Given the description of an element on the screen output the (x, y) to click on. 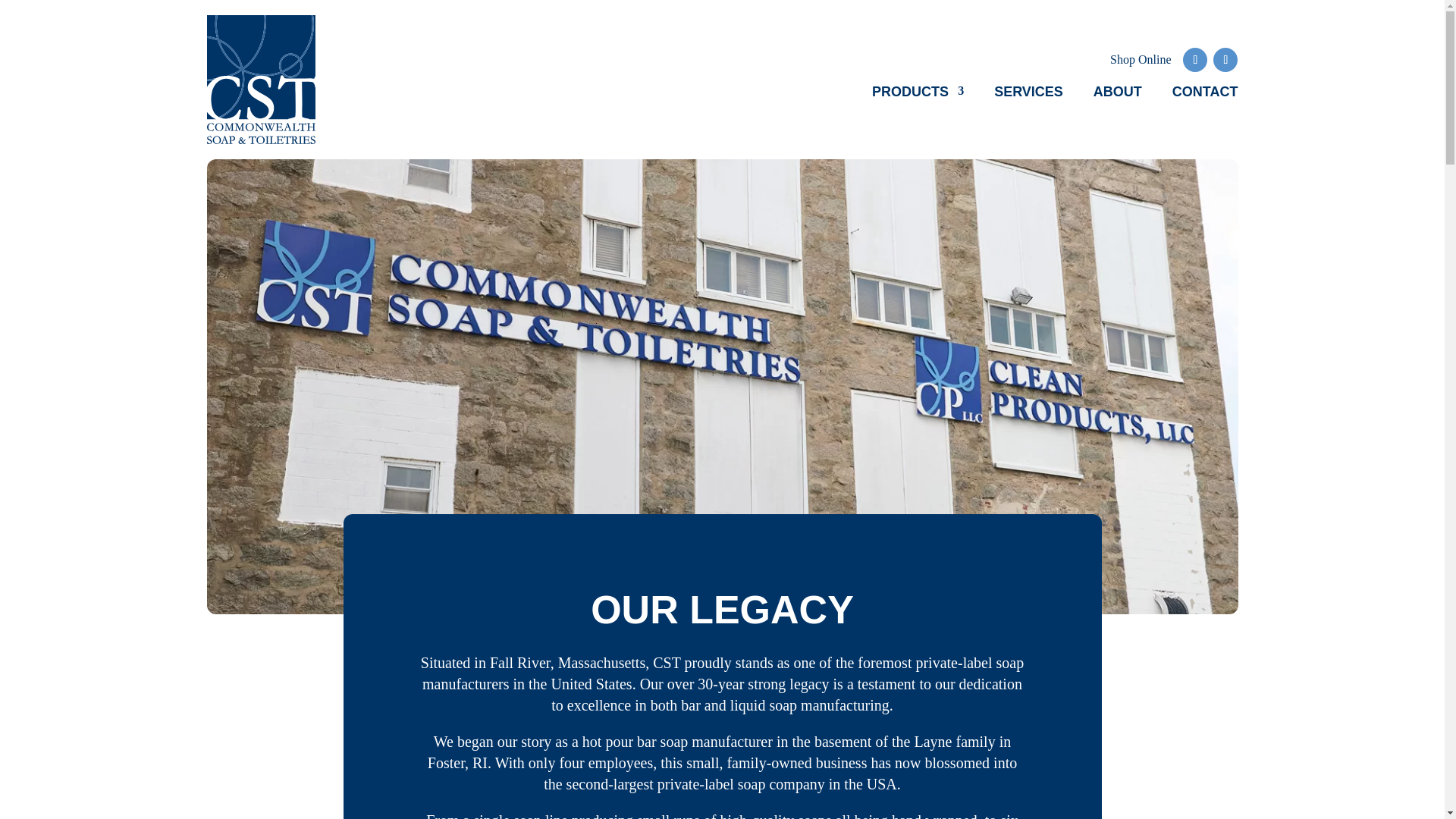
PRODUCTS (917, 95)
Follow on Facebook (1224, 59)
Shop Online (1139, 59)
CONTACT (1205, 95)
ABOUT (1117, 95)
SERVICES (1028, 95)
Follow on LinkedIn (1194, 59)
